Given the description of an element on the screen output the (x, y) to click on. 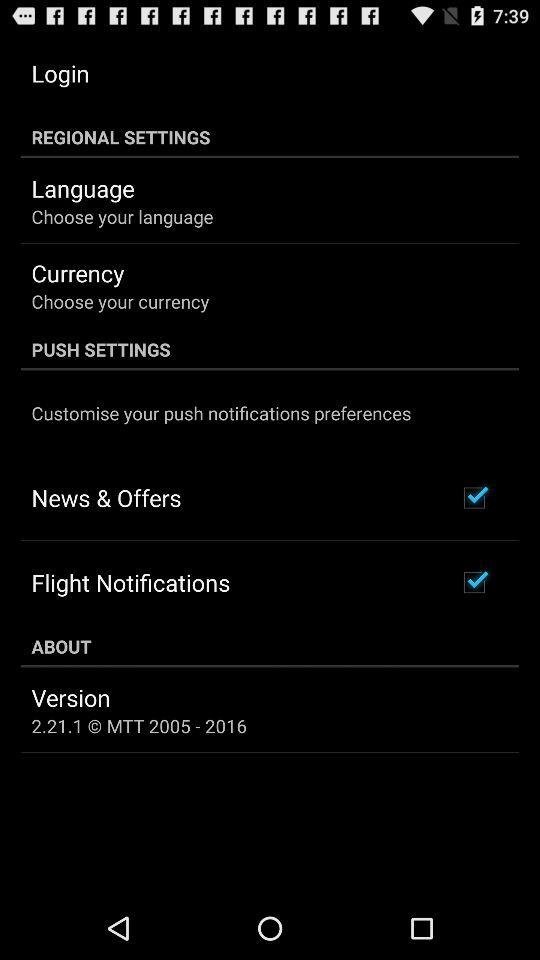
open the icon above the customise your push app (270, 349)
